Given the description of an element on the screen output the (x, y) to click on. 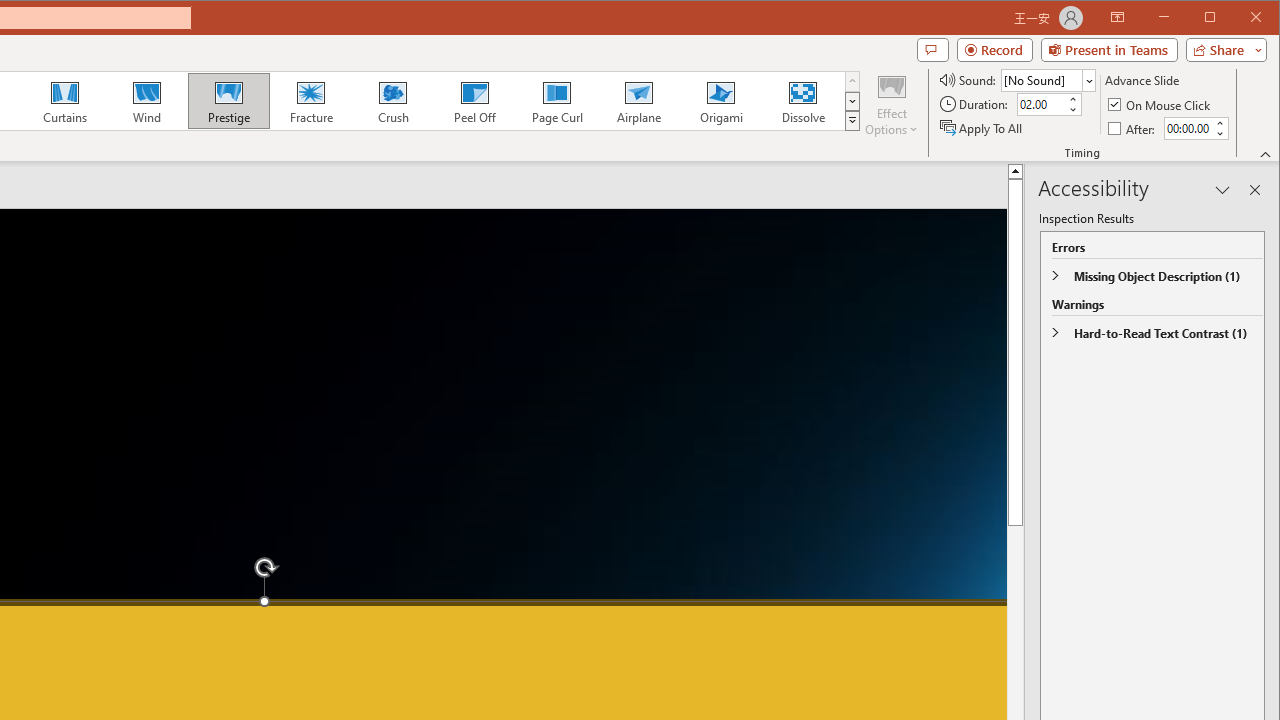
Origami (720, 100)
Effect Options (891, 104)
Crush (392, 100)
